Given the description of an element on the screen output the (x, y) to click on. 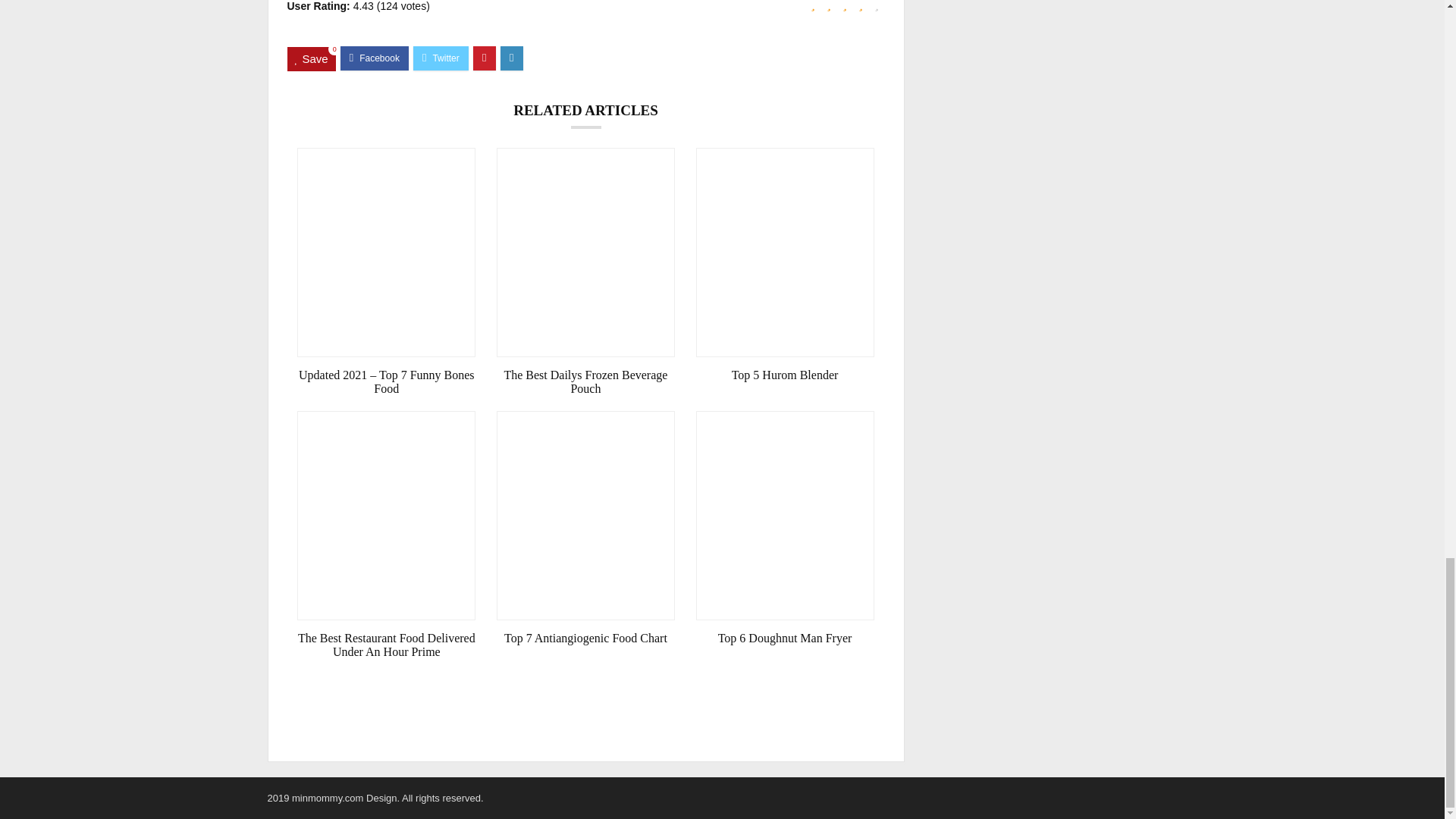
The Best Dailys Frozen Beverage Pouch (585, 381)
The Best Restaurant Food Delivered Under An Hour Prime (386, 645)
Top 7 Antiangiogenic Food Chart (585, 638)
Top 5 Hurom Blender (785, 375)
Top 6 Doughnut Man Fryer (785, 638)
